Given the description of an element on the screen output the (x, y) to click on. 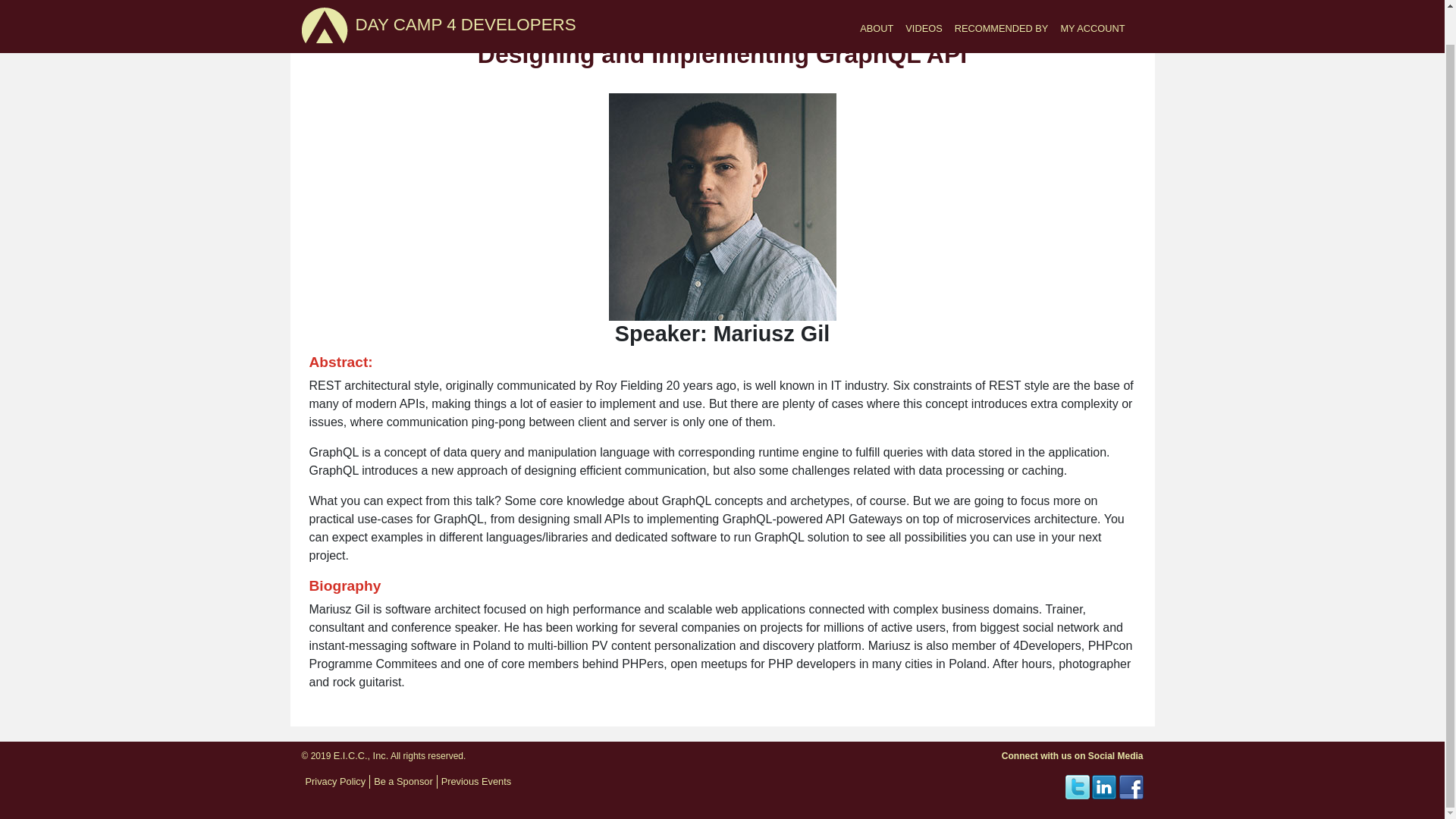
ABOUT (876, 2)
Be a Sponsor (403, 781)
E.I.C.C., Inc. (360, 755)
RECOMMENDED BY (1001, 2)
MY ACCOUNT (1092, 2)
Previous Events (476, 781)
DAY CAMP 4 DEVELOPERS (324, 3)
Privacy Policy (334, 781)
VIDEOS (923, 2)
